Given the description of an element on the screen output the (x, y) to click on. 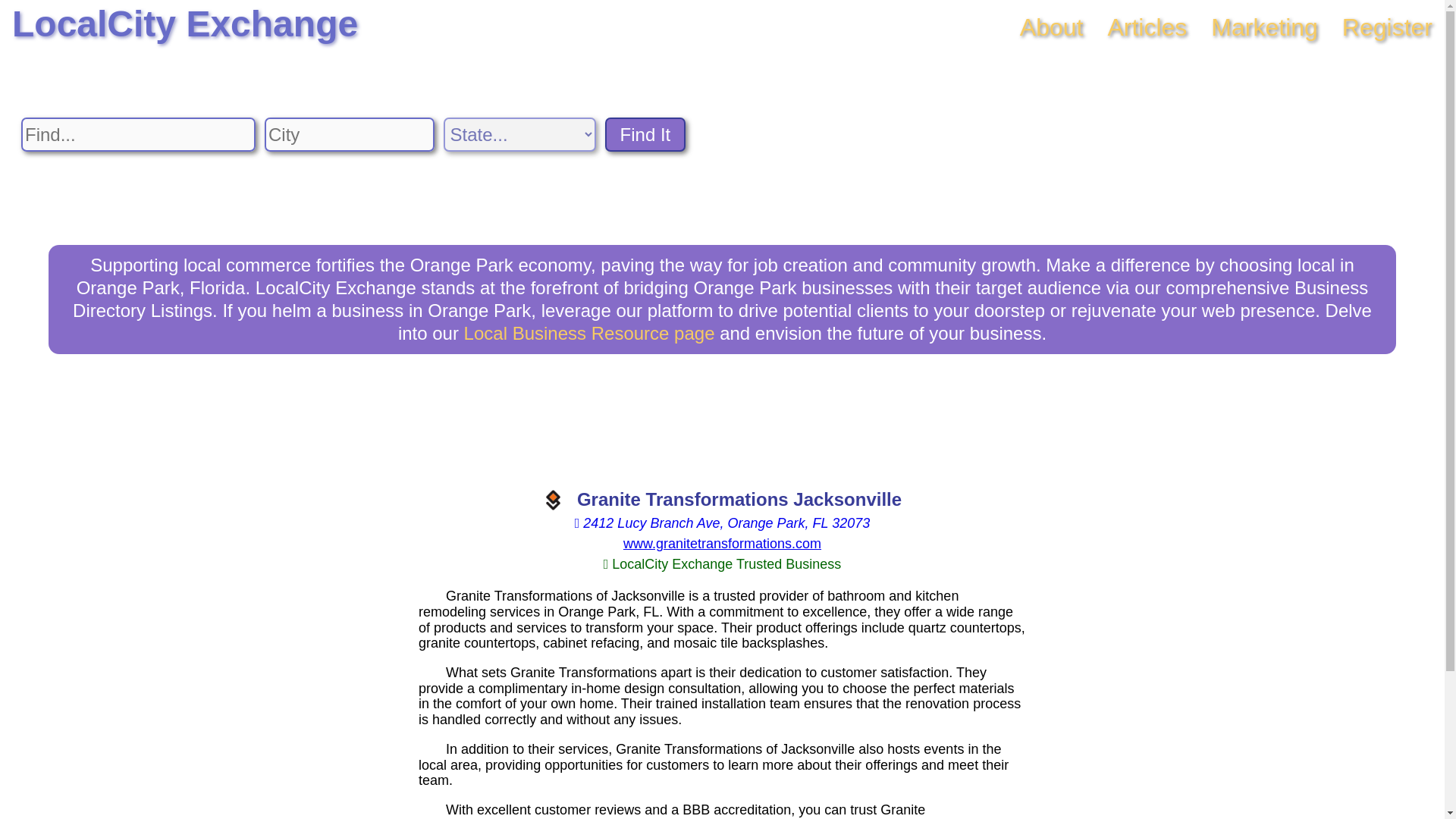
Register (1387, 27)
Articles (1146, 27)
Marketing (1264, 27)
About (1051, 27)
Local Business Resource page (589, 332)
Register My Business (1387, 27)
Business Marketing Opportunites (1264, 27)
www.granitetransformations.com (722, 543)
LocalCity Exchange (184, 24)
